Given the description of an element on the screen output the (x, y) to click on. 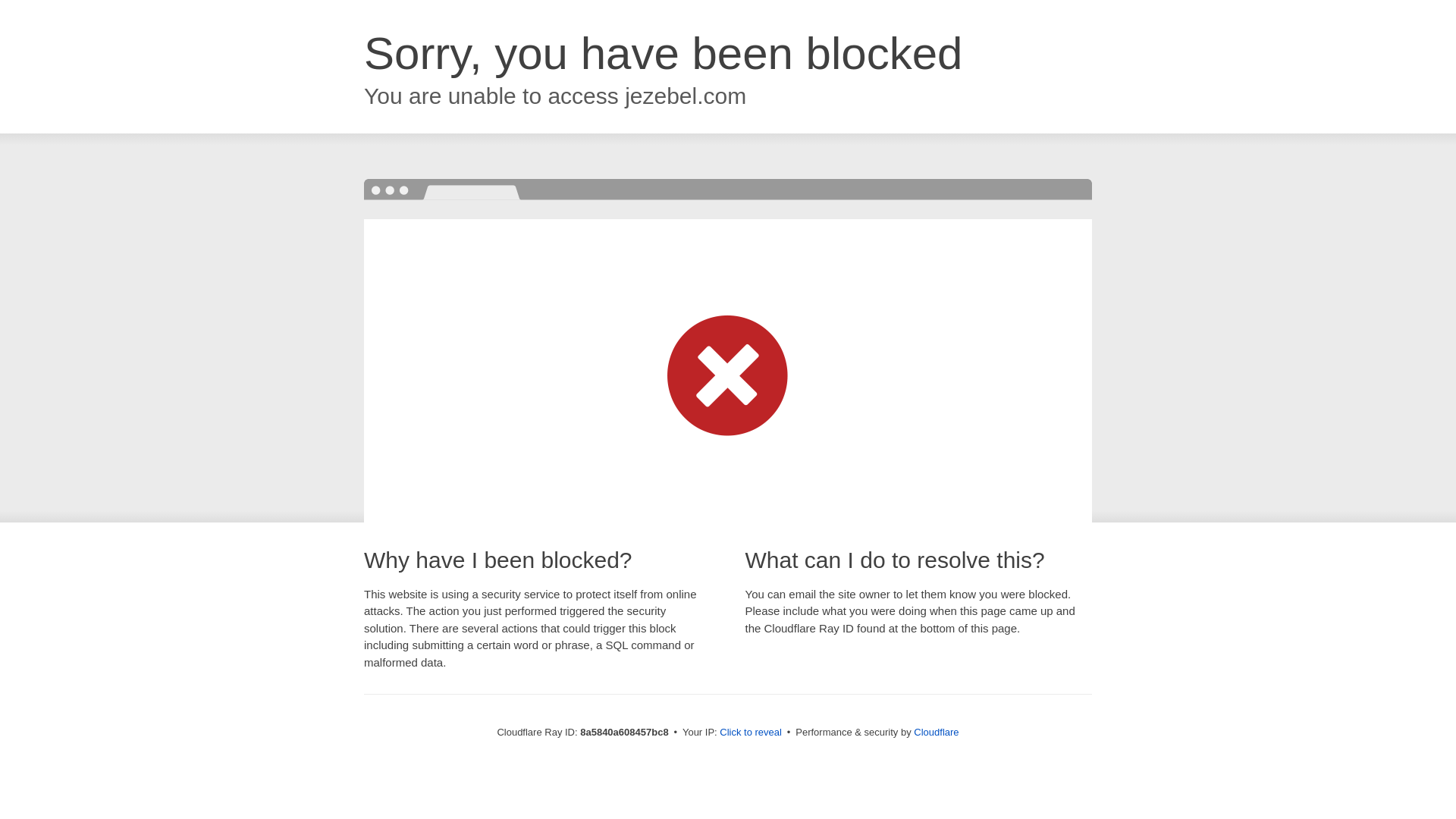
Click to reveal (750, 732)
Cloudflare (936, 731)
